Given the description of an element on the screen output the (x, y) to click on. 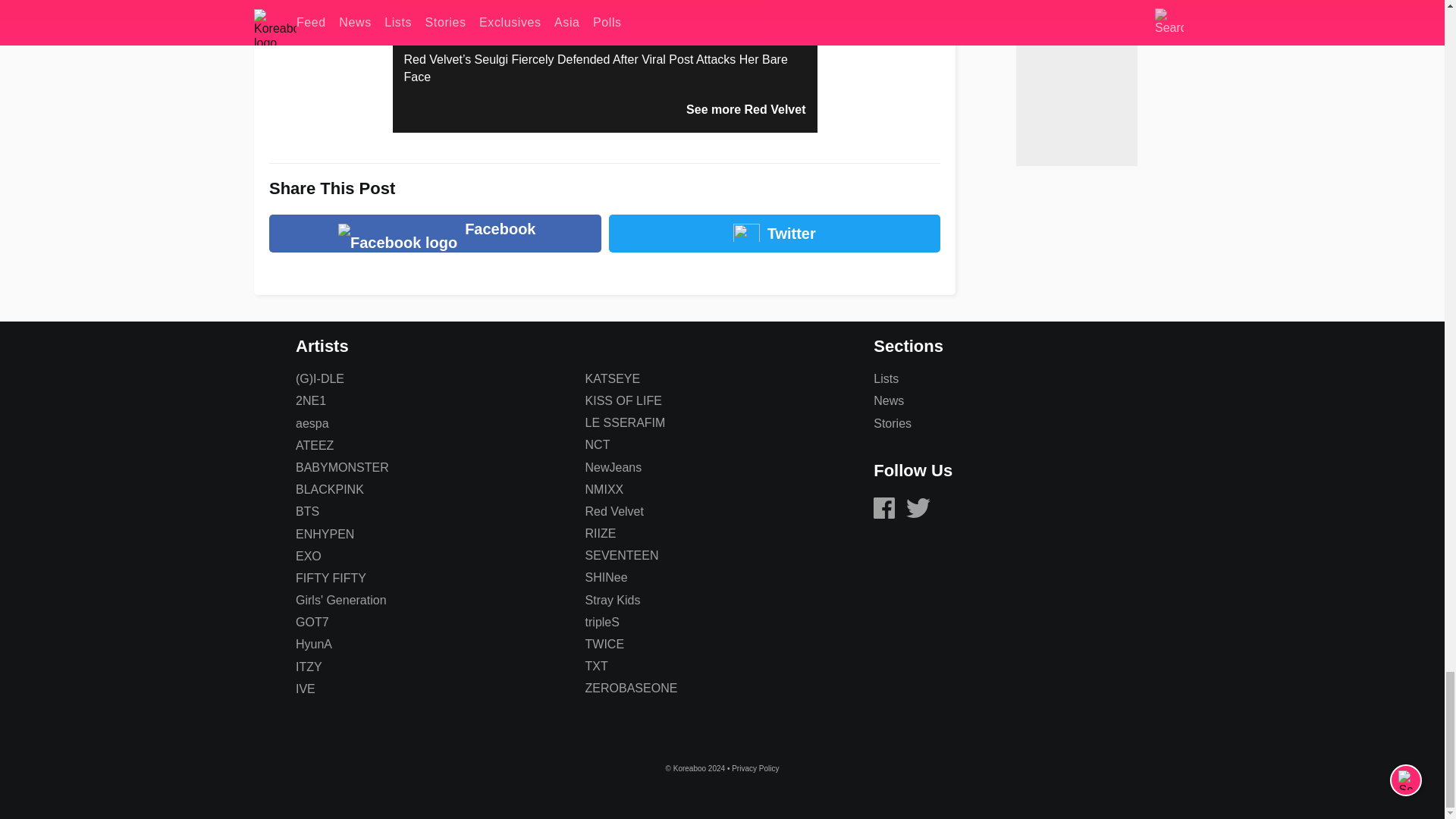
aespa (312, 422)
IVE (305, 688)
KATSEYE (612, 378)
2NE1 (310, 400)
BABYMONSTER (341, 467)
HyunA (313, 644)
BLACKPINK (329, 489)
ATEEZ (314, 445)
See more Red Velvet (745, 109)
ENHYPEN (324, 533)
